Given the description of an element on the screen output the (x, y) to click on. 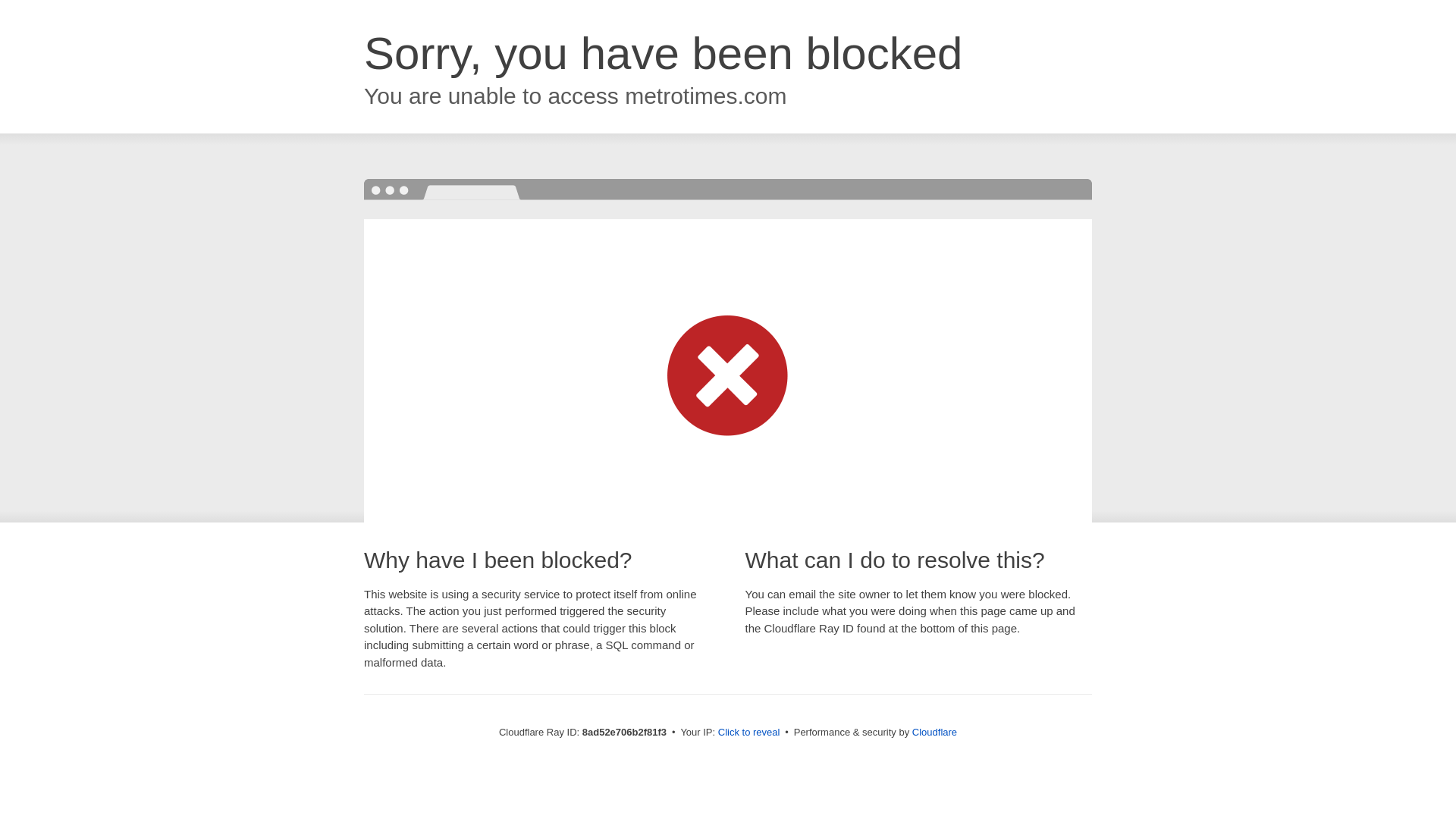
Click to reveal (748, 732)
Cloudflare (934, 731)
